Given the description of an element on the screen output the (x, y) to click on. 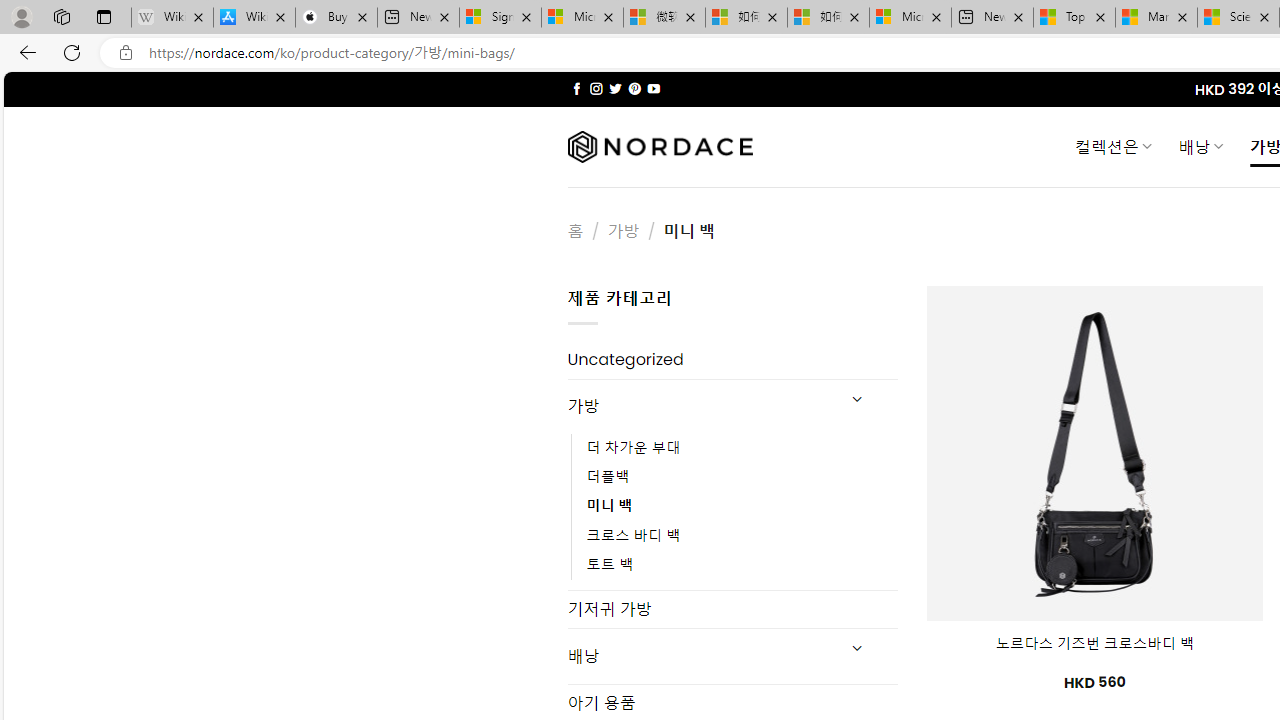
Wikipedia - Sleeping (171, 17)
Sign in to your Microsoft account (500, 17)
Top Stories - MSN (1074, 17)
Nordace (659, 147)
